Given the description of an element on the screen output the (x, y) to click on. 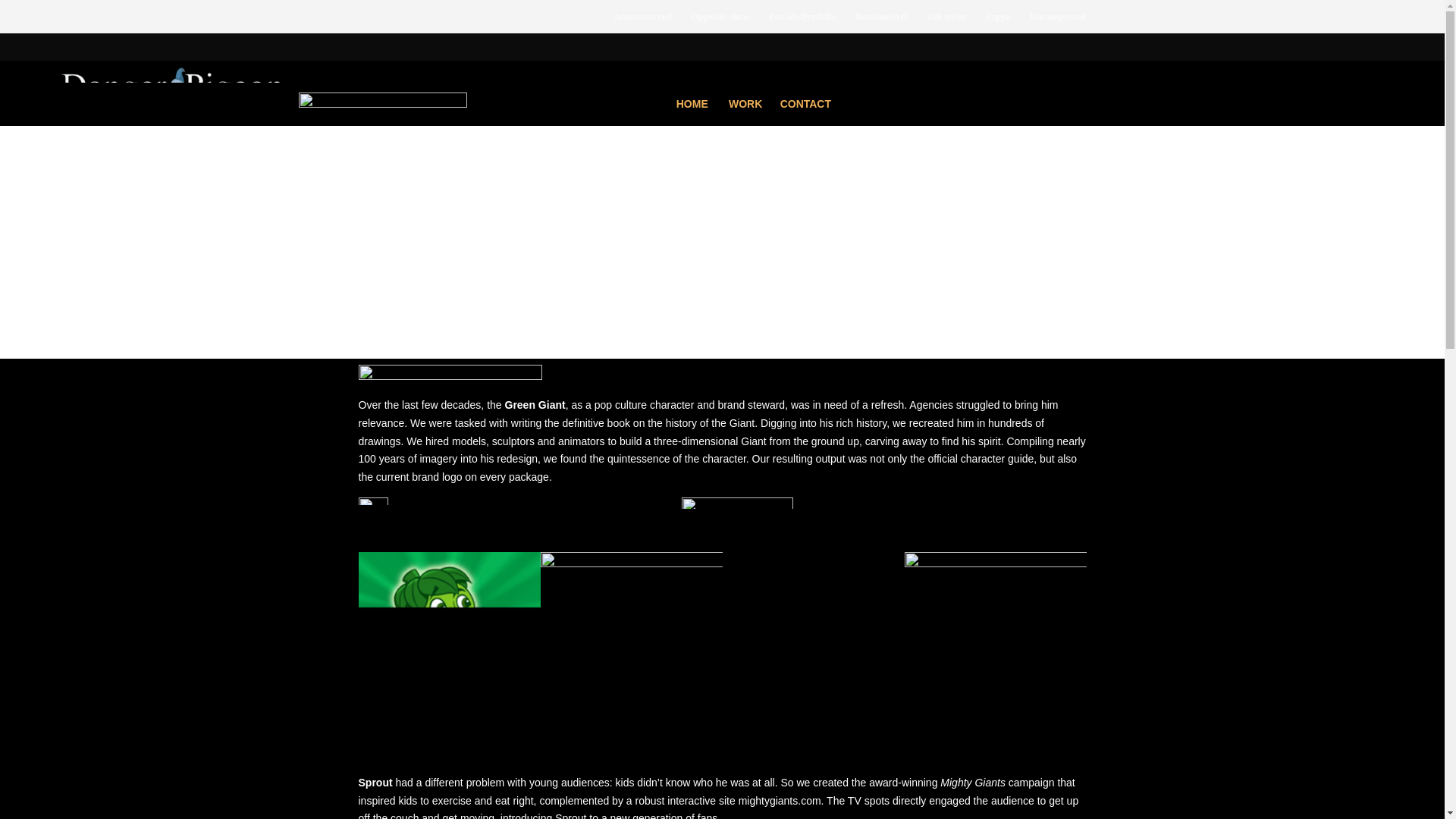
WORK (745, 103)
PatGilesPortfolio (801, 22)
Zappa (997, 22)
RonJonesArt (881, 22)
Uncategorized (1058, 22)
CONTACT (805, 103)
Opposite Show (720, 22)
HOME (692, 103)
Animation reel (641, 22)
